Given the description of an element on the screen output the (x, y) to click on. 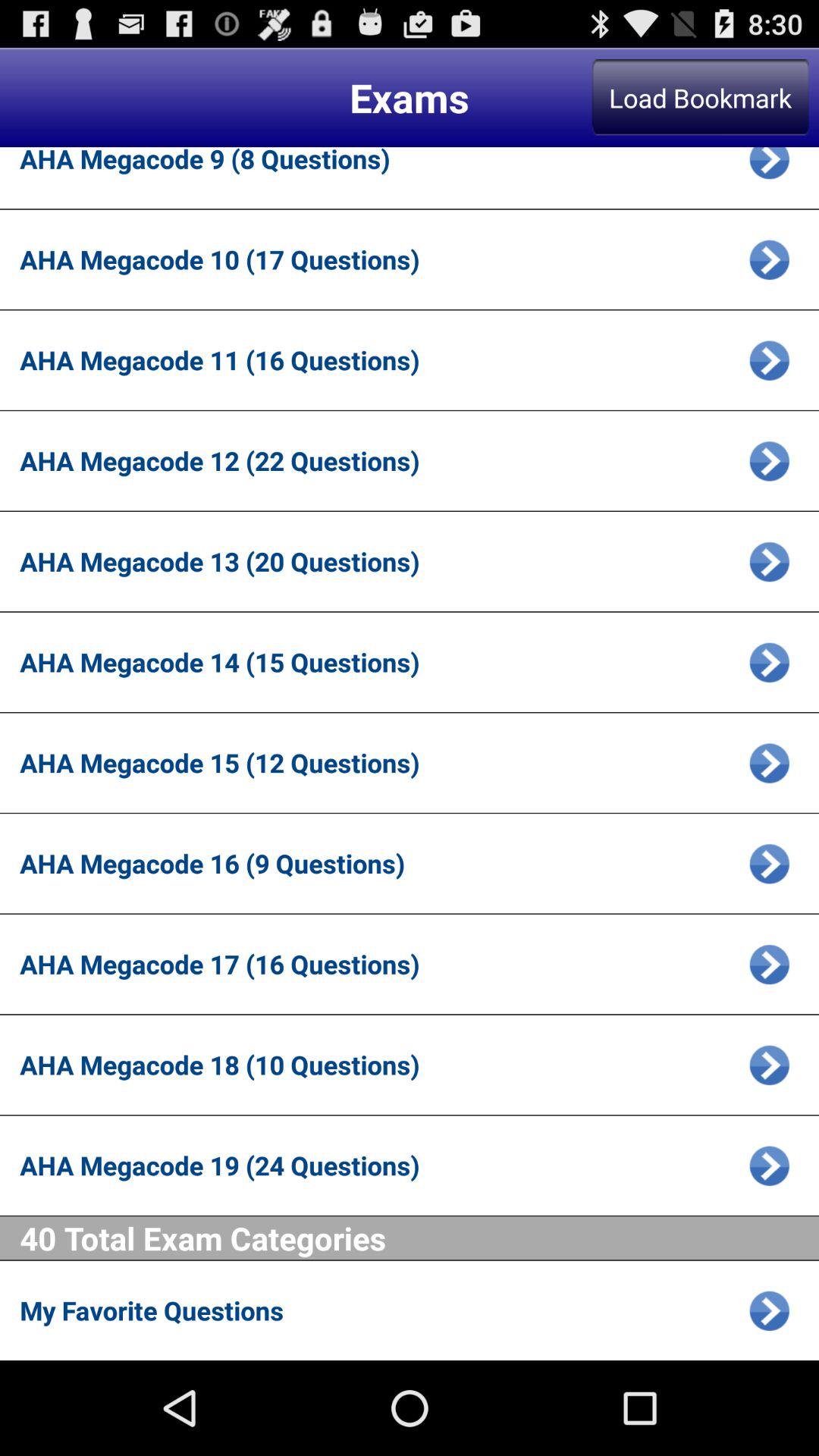
view more details (769, 360)
